Given the description of an element on the screen output the (x, y) to click on. 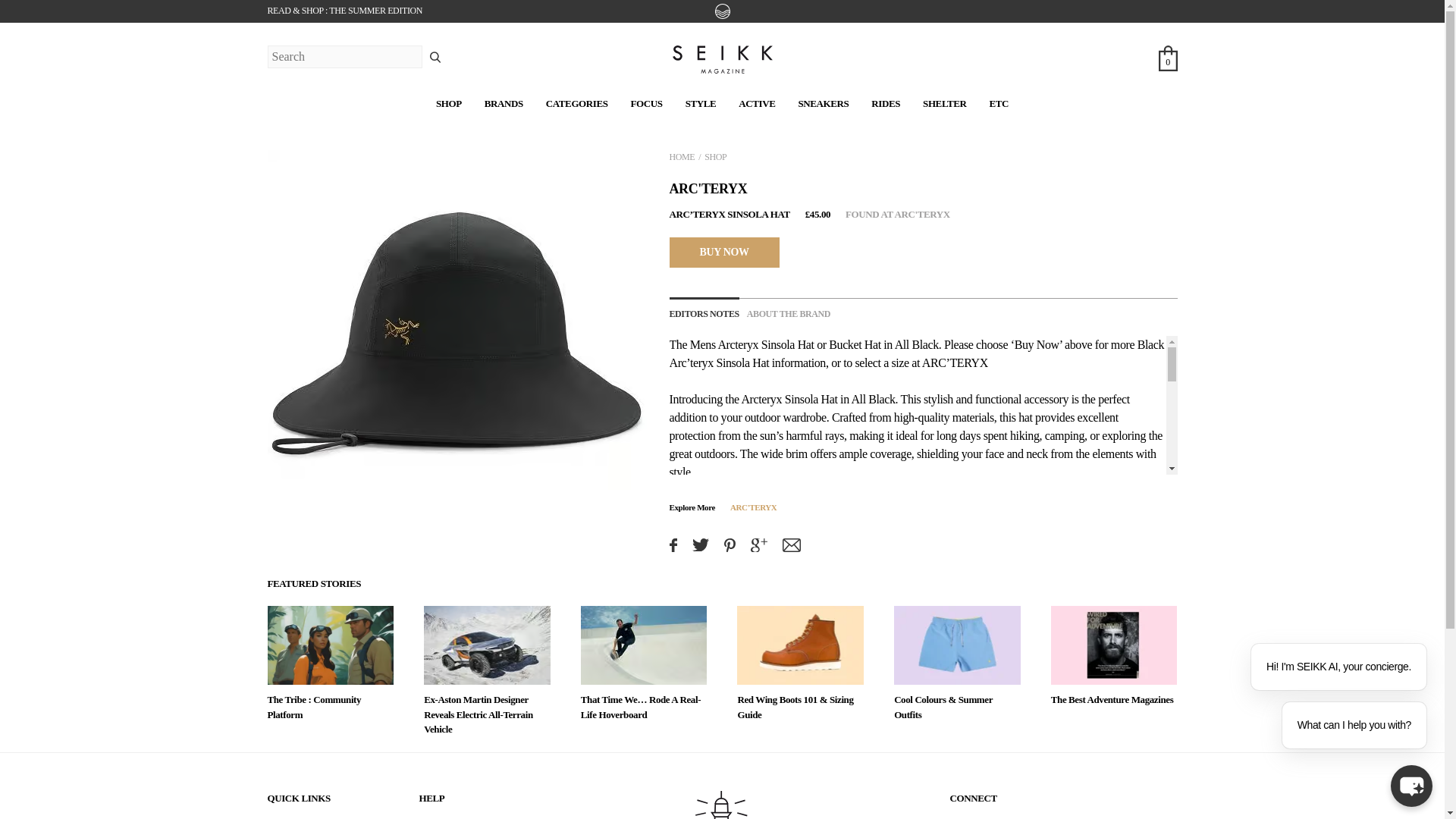
ARC'TERYX (707, 188)
CATEGORIES (577, 102)
SHELTER (944, 102)
BUY NOW (723, 251)
Arcteryx (737, 344)
ARC'TERYX (753, 506)
ACTIVE (756, 102)
STYLE (700, 102)
BRANDS (503, 102)
SNEAKERS (822, 102)
RIDES (884, 102)
SHOP (715, 156)
FOCUS (646, 102)
SHOP (448, 102)
HOME (681, 156)
